Given the description of an element on the screen output the (x, y) to click on. 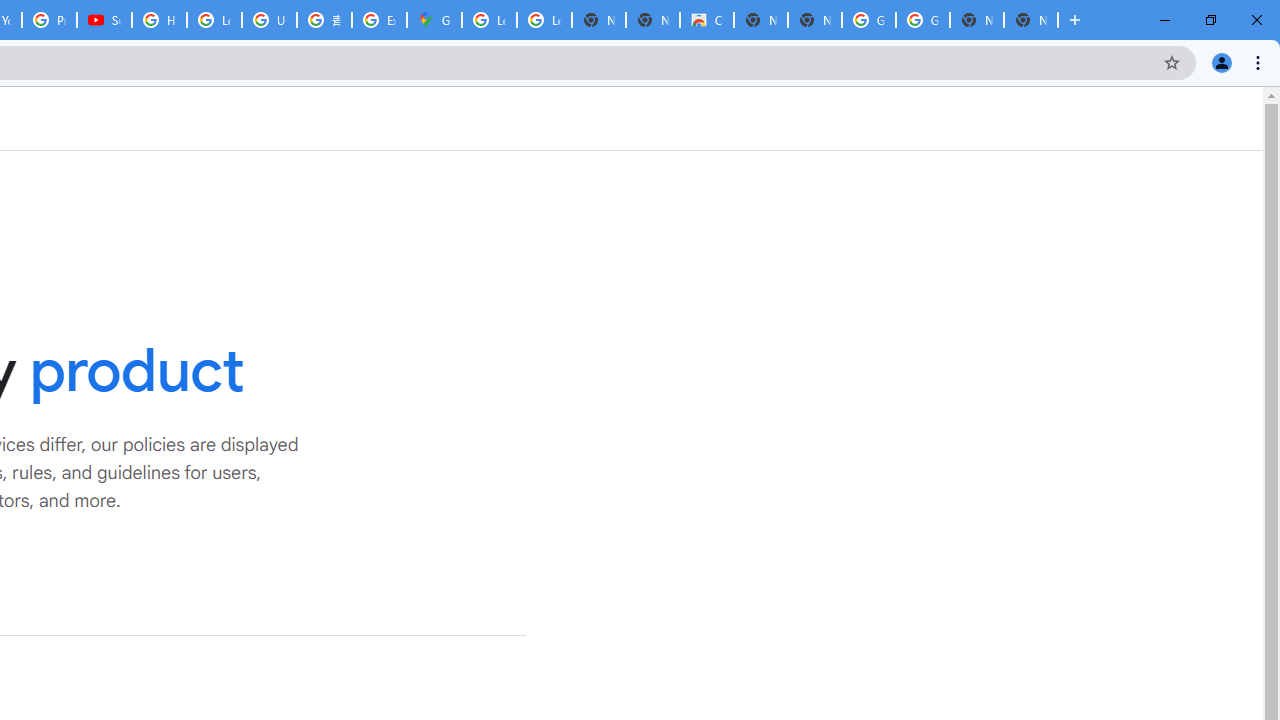
Subscriptions - YouTube (103, 20)
Google Images (922, 20)
Explore new street-level details - Google Maps Help (379, 20)
Google Images (868, 20)
Chrome Web Store (706, 20)
New Tab (1030, 20)
Google Maps (434, 20)
